Given the description of an element on the screen output the (x, y) to click on. 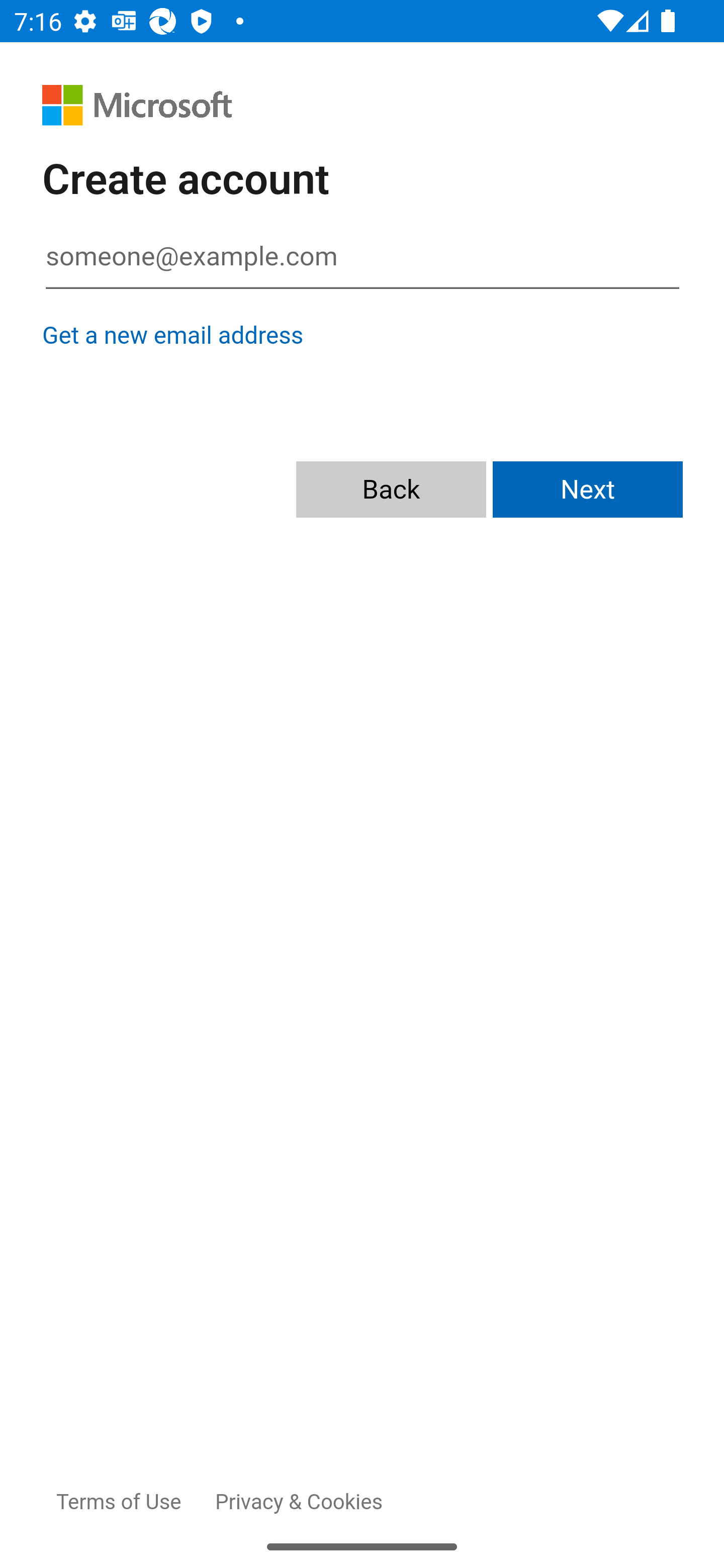
Navigate up (49, 91)
